Given the description of an element on the screen output the (x, y) to click on. 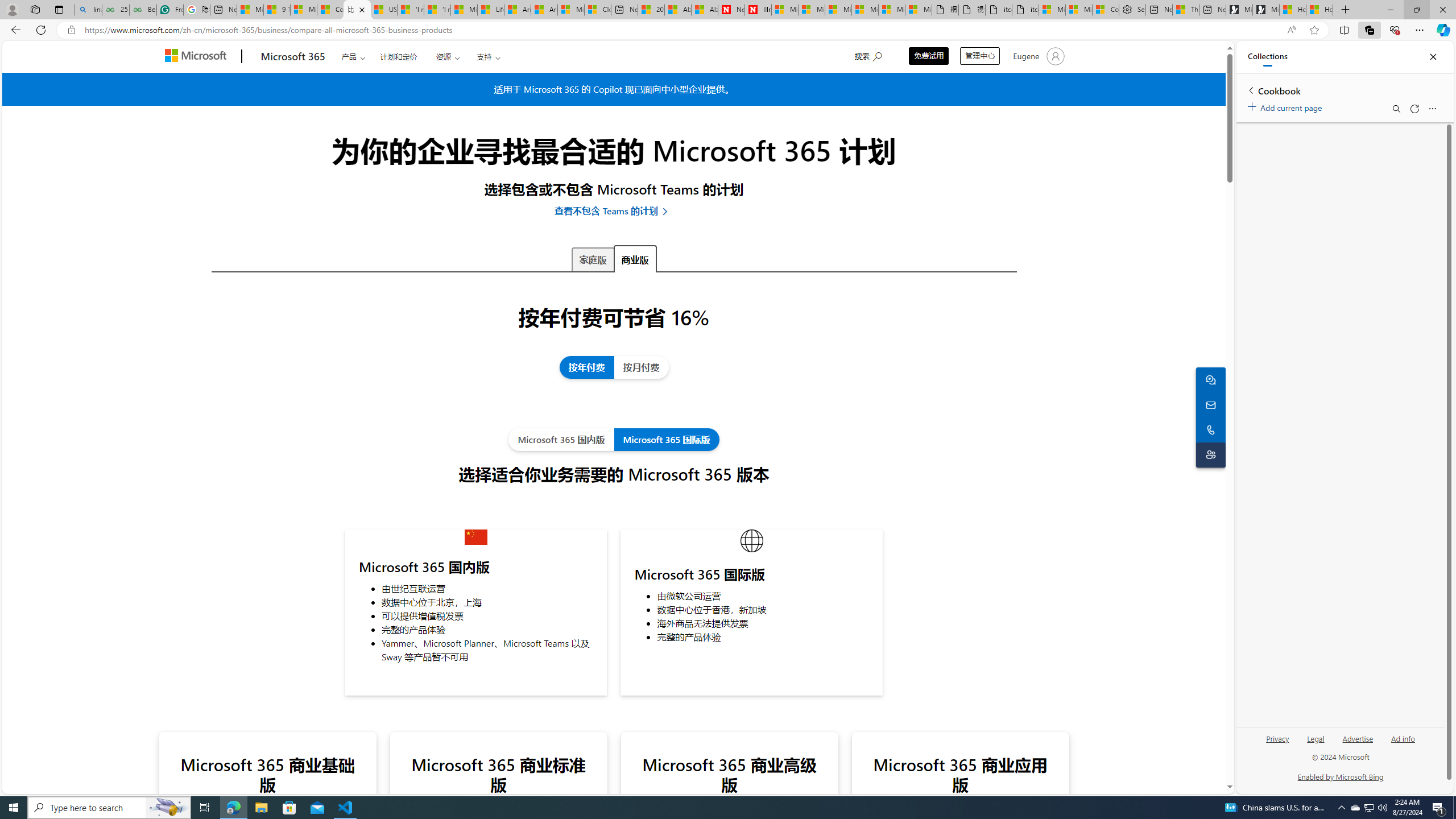
Consumer Health Data Privacy Policy (1105, 9)
25 Basic Linux Commands For Beginners - GeeksforGeeks (115, 9)
Cloud Computing Services | Microsoft Azure (597, 9)
